Given the description of an element on the screen output the (x, y) to click on. 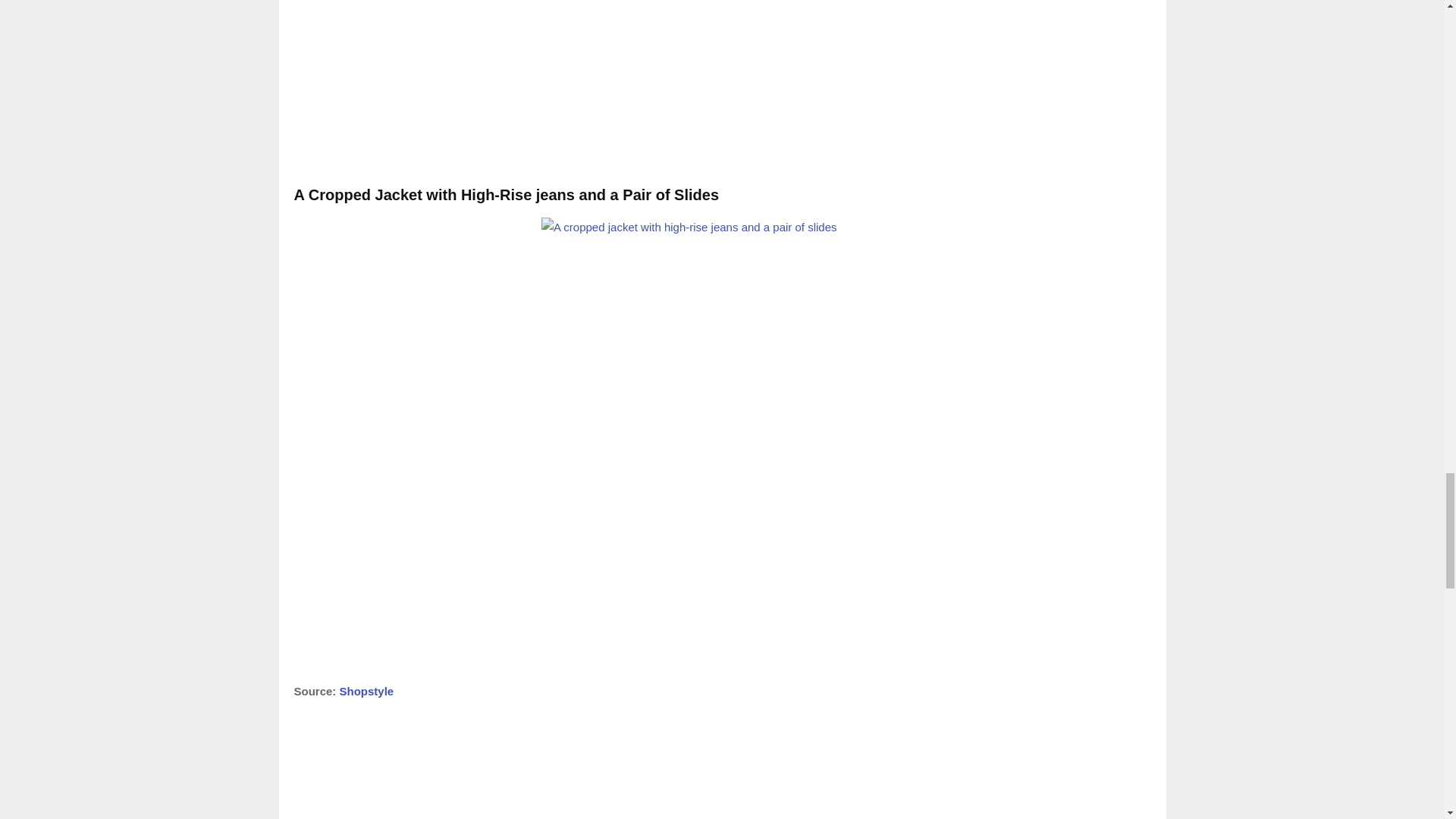
Shopstyle (366, 690)
